Given the description of an element on the screen output the (x, y) to click on. 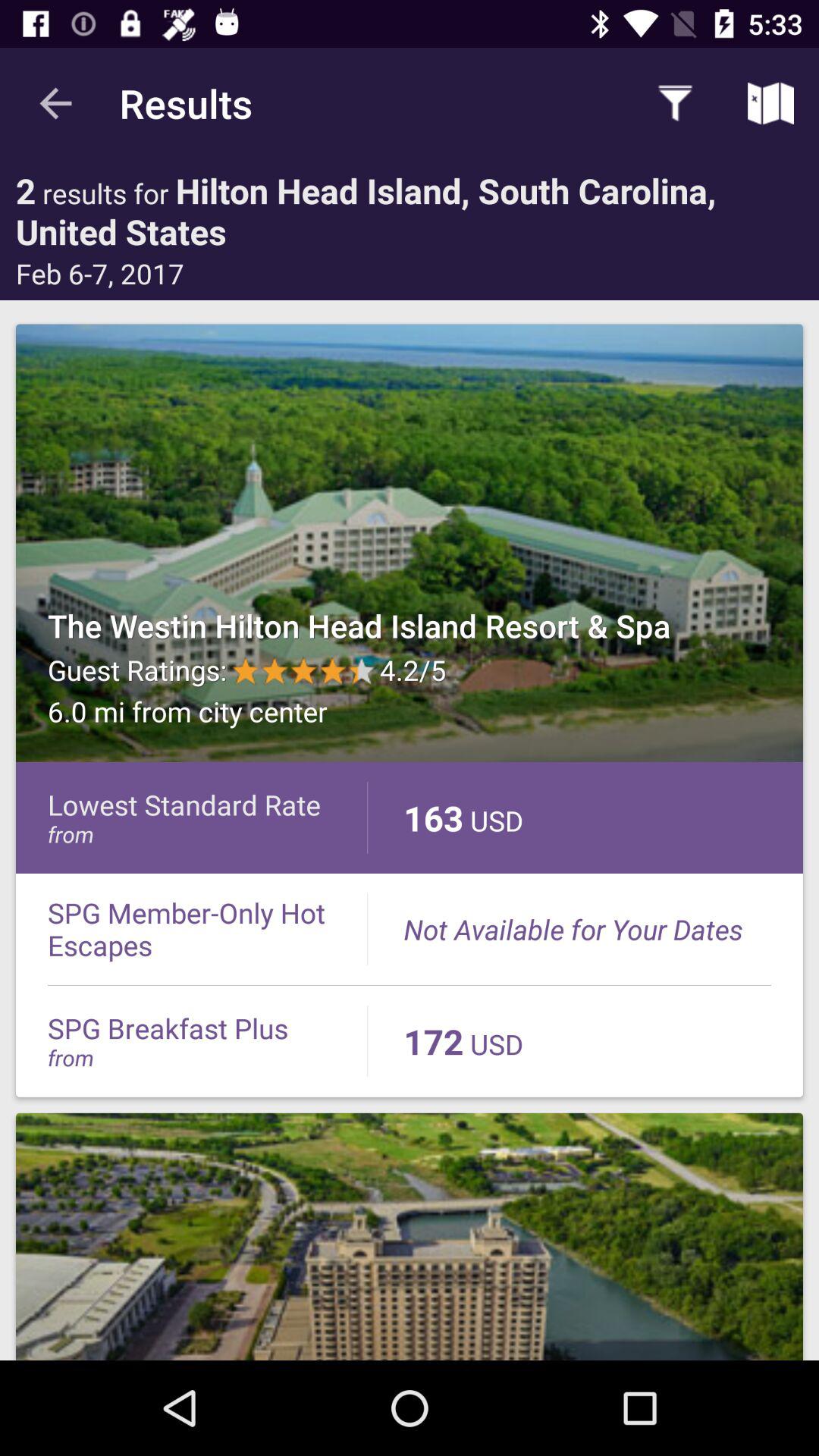
go to website (409, 1236)
